Given the description of an element on the screen output the (x, y) to click on. 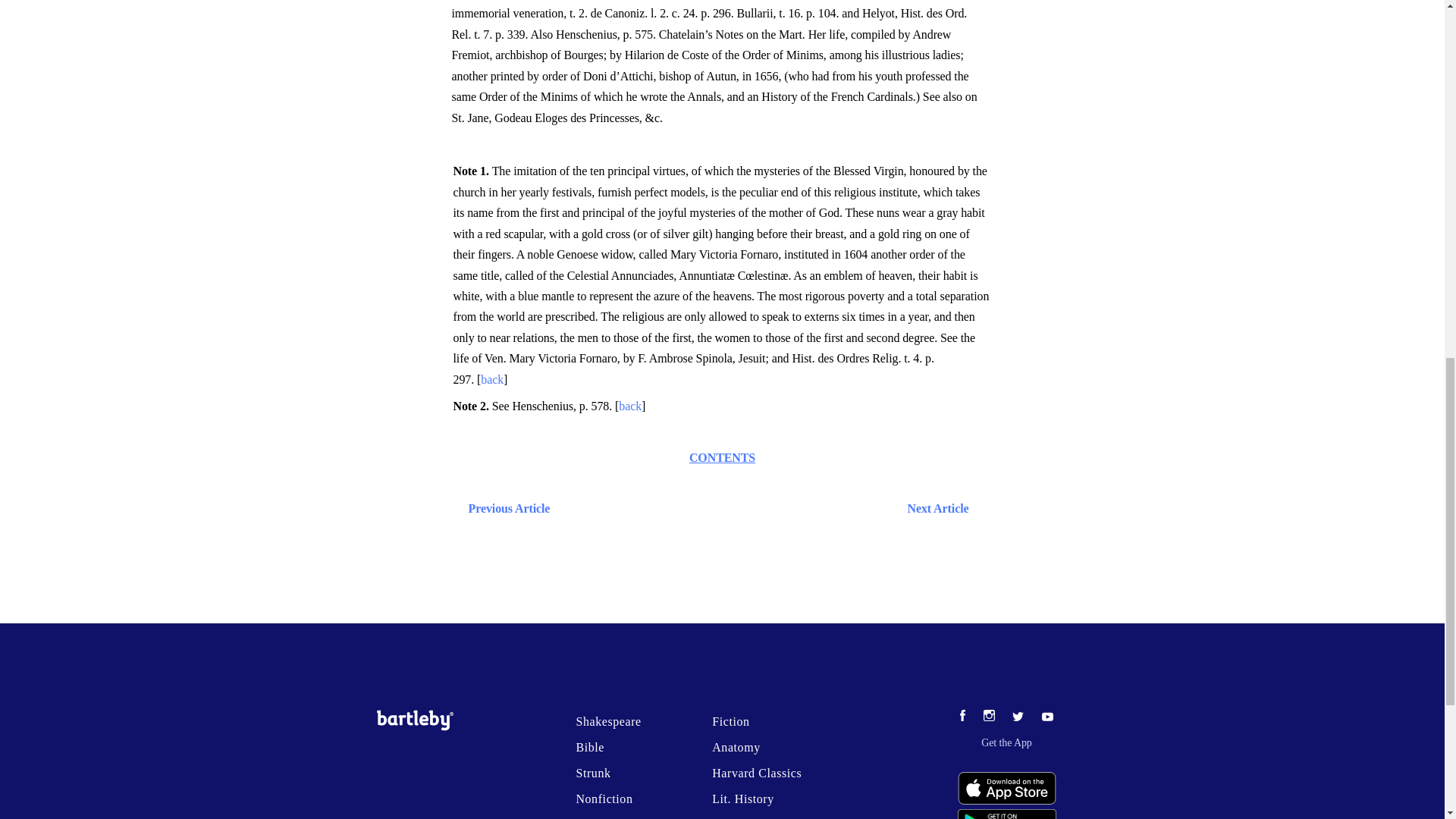
CONTENTS (721, 457)
back (630, 405)
back (491, 379)
Previous Article (505, 507)
Strunk (592, 772)
Fiction (730, 721)
Quotations (604, 818)
Next Article (766, 507)
Note 1. (472, 170)
Shakespeare (607, 721)
Bible (589, 747)
Nonfiction (603, 798)
Note 2. (472, 405)
